Given the description of an element on the screen output the (x, y) to click on. 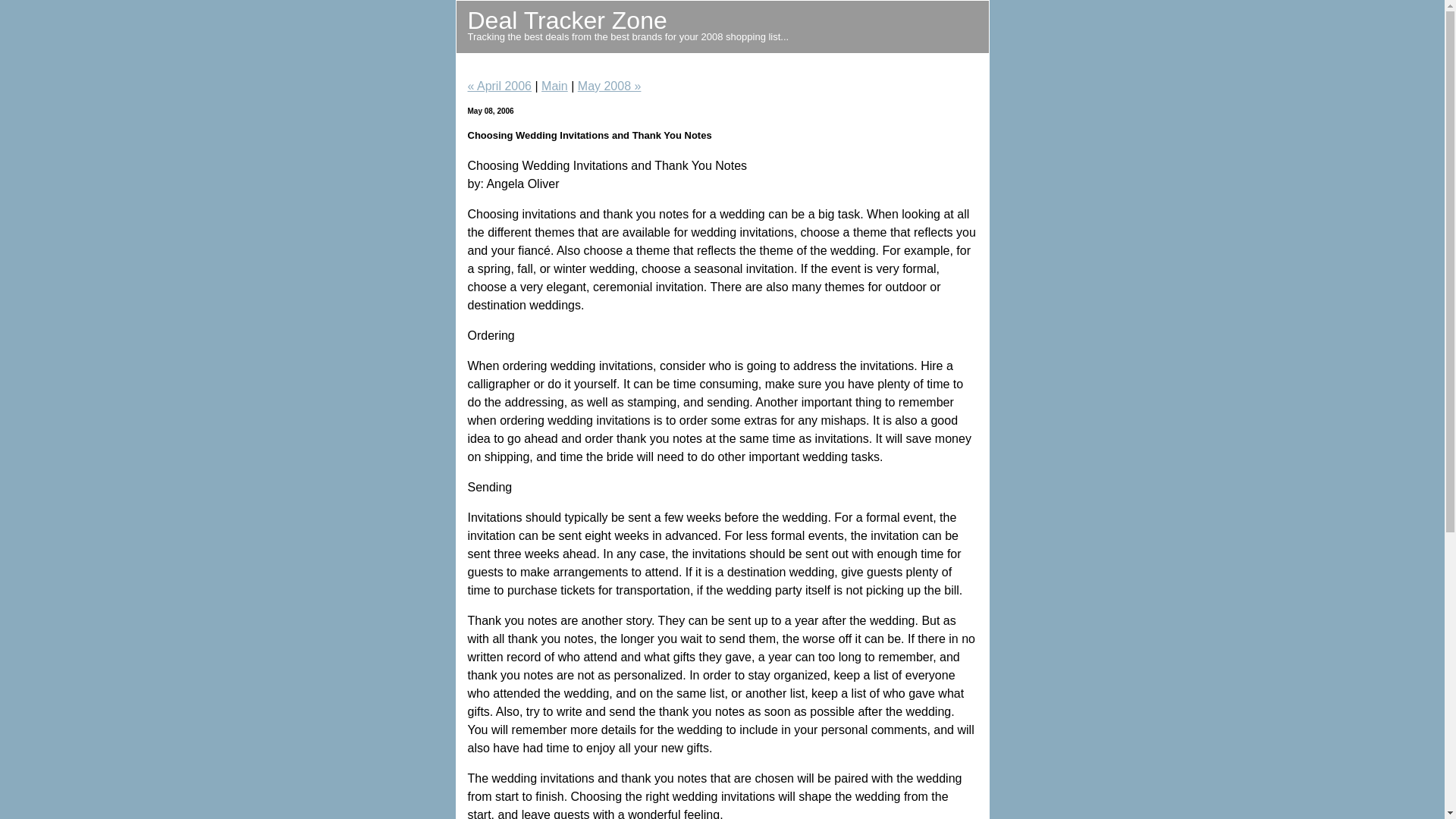
Main Element type: text (554, 85)
Deal Tracker Zone Element type: text (566, 20)
